Given the description of an element on the screen output the (x, y) to click on. 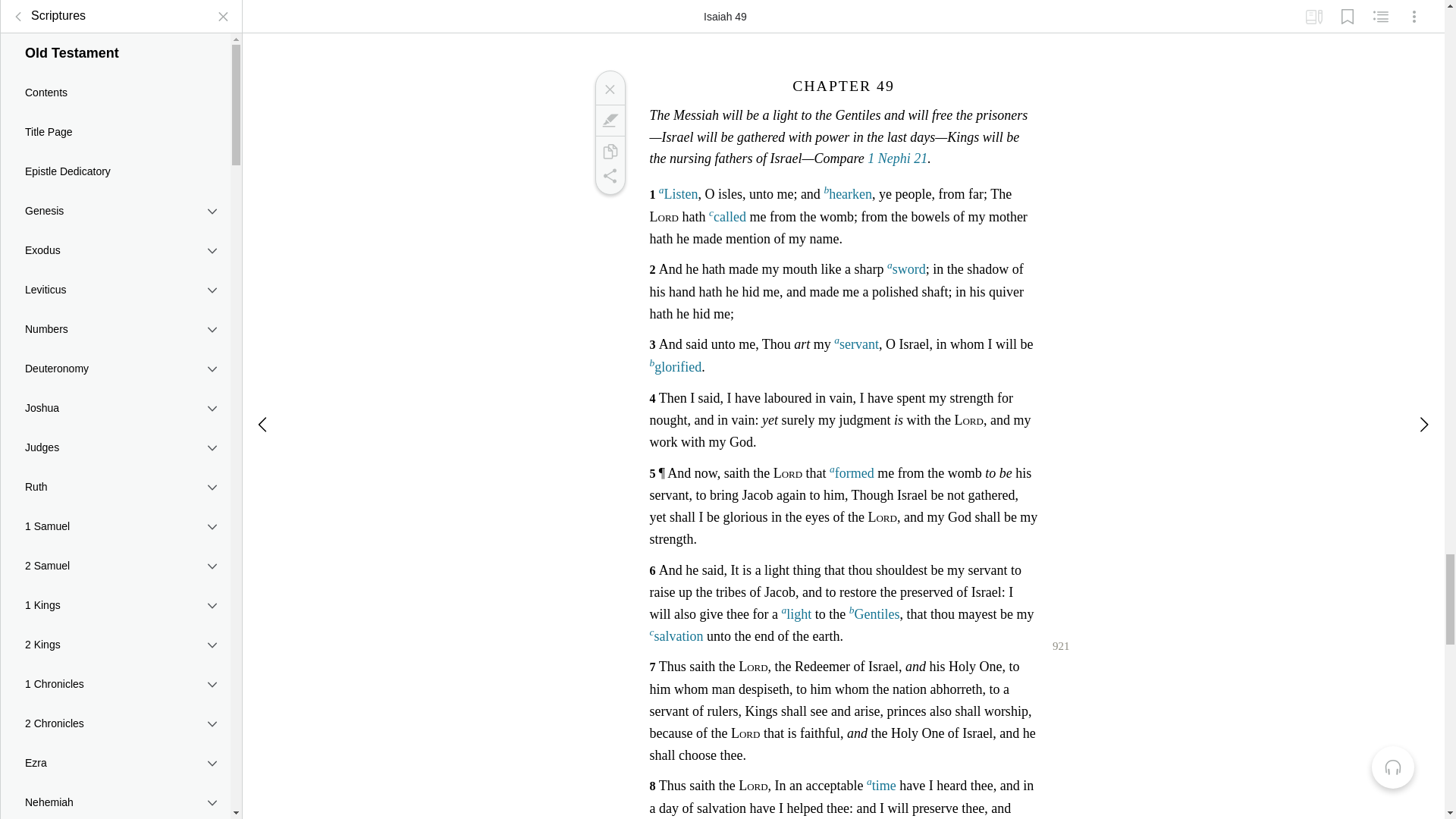
1 Samuel (115, 514)
Numbers (115, 317)
Copy (608, 151)
Title Page (115, 120)
Study Sets (1313, 11)
Joshua (115, 396)
2 Samuel (115, 554)
Deuteronomy (115, 356)
Options (1414, 11)
Scriptures (46, 8)
Ruth (115, 475)
2 Kings (115, 632)
Ezra (115, 751)
Genesis (115, 199)
Close (608, 88)
